Given the description of an element on the screen output the (x, y) to click on. 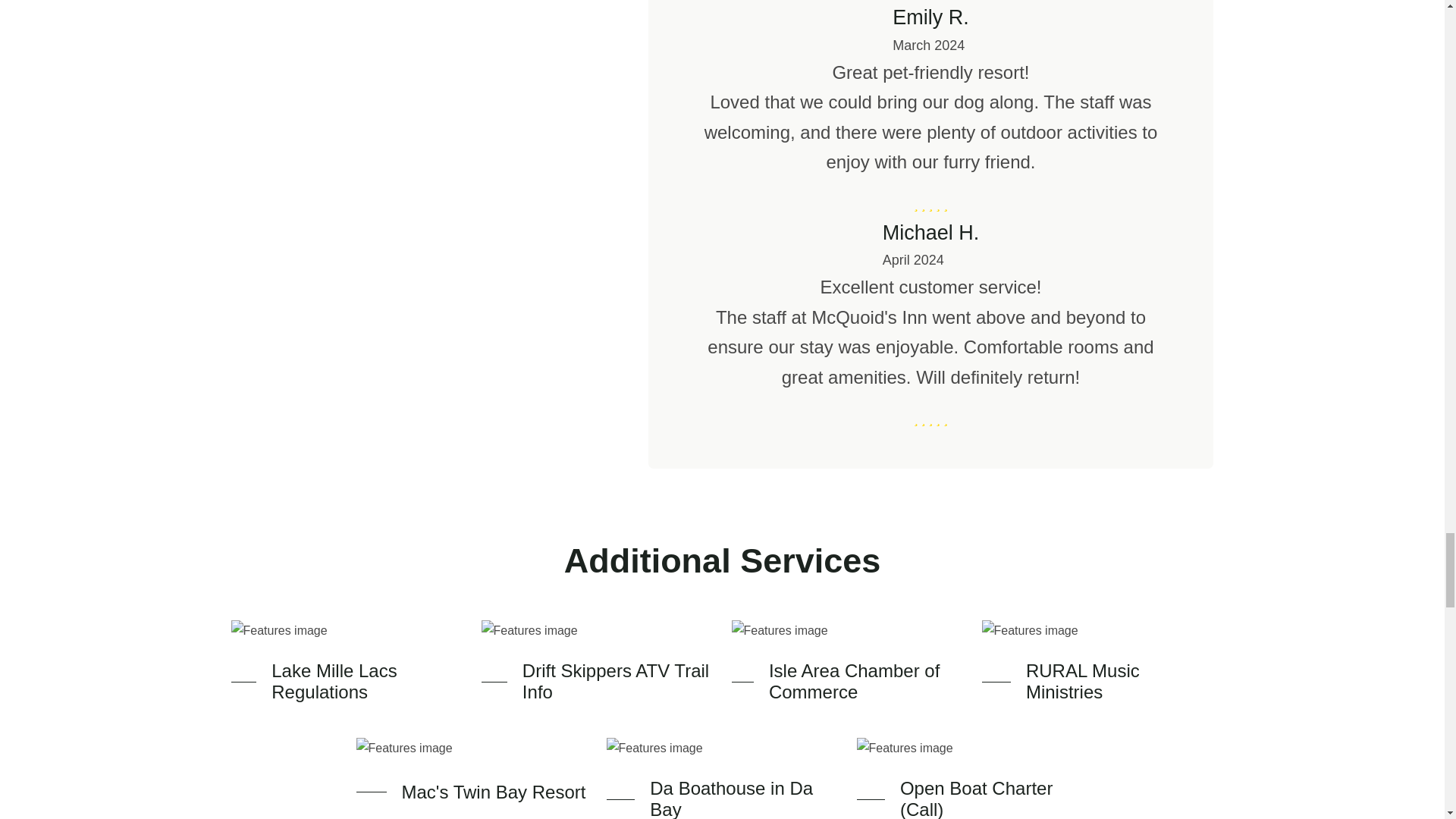
Lake Mille Lacs Regulations (366, 681)
RURAL Music Ministries (1120, 681)
Isle Area Chamber of Commerce (865, 681)
Drift Skippers ATV Trail Info (617, 681)
